Given the description of an element on the screen output the (x, y) to click on. 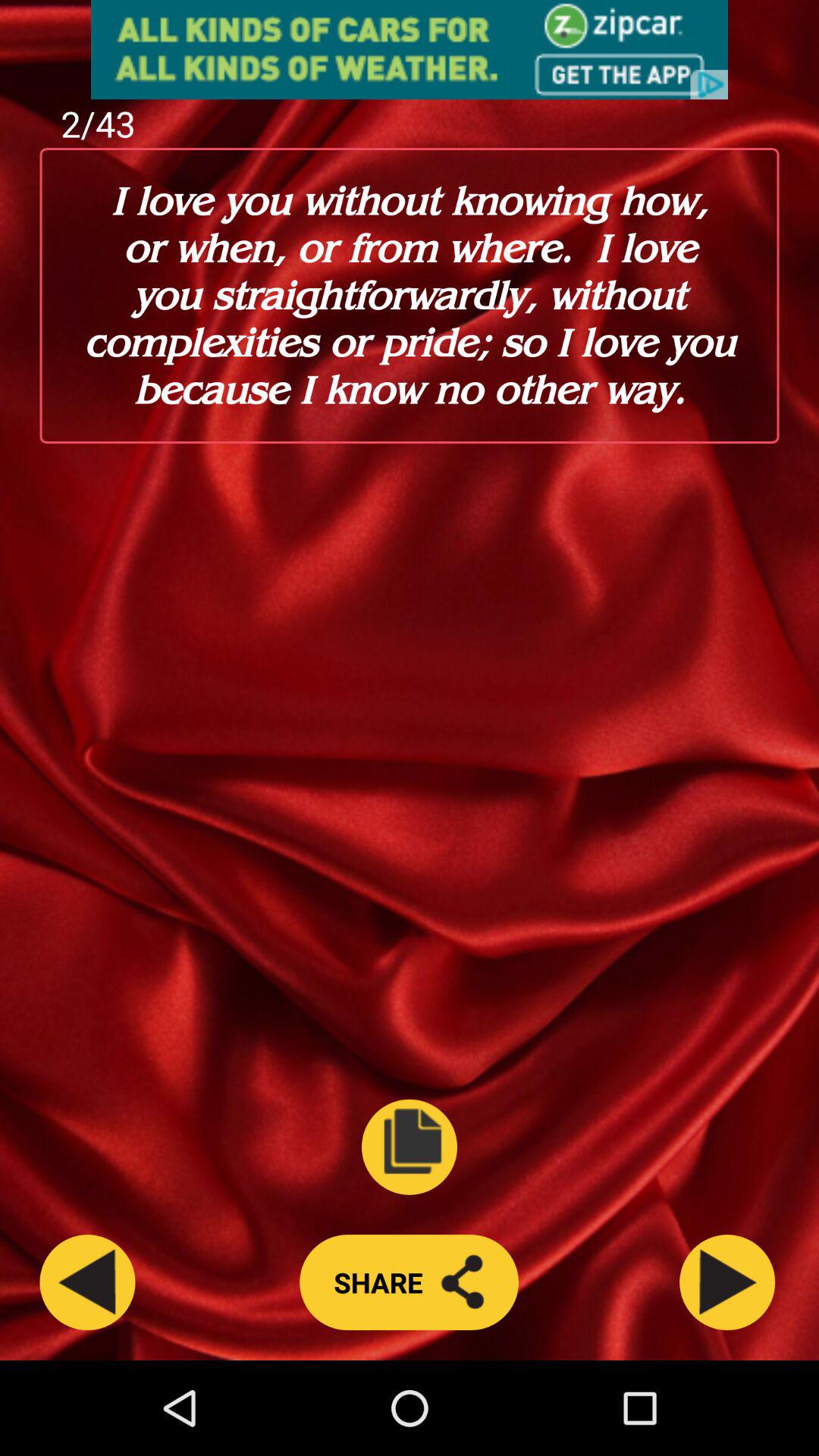
go next (727, 1282)
